Given the description of an element on the screen output the (x, y) to click on. 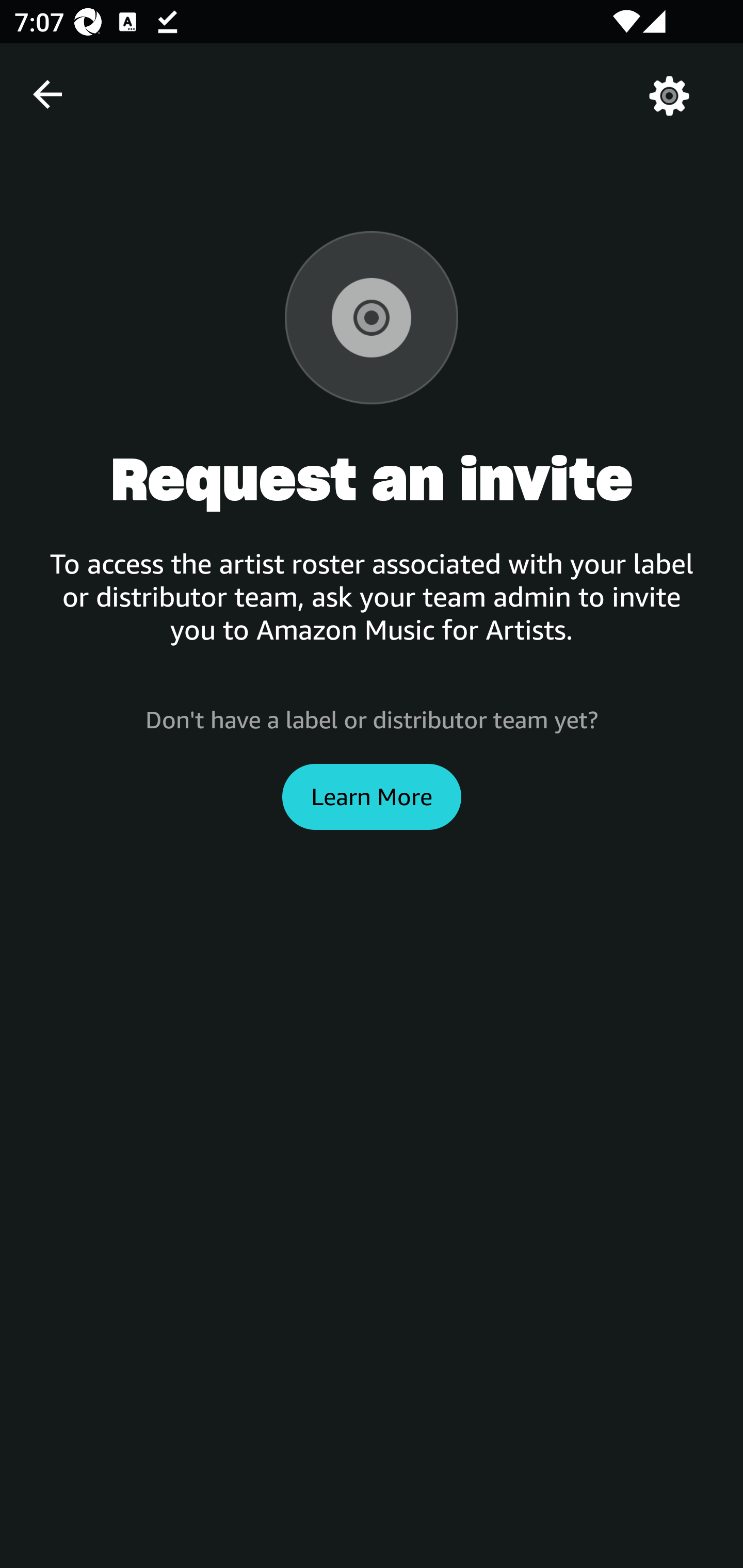
Learn more button Learn More (371, 796)
